Given the description of an element on the screen output the (x, y) to click on. 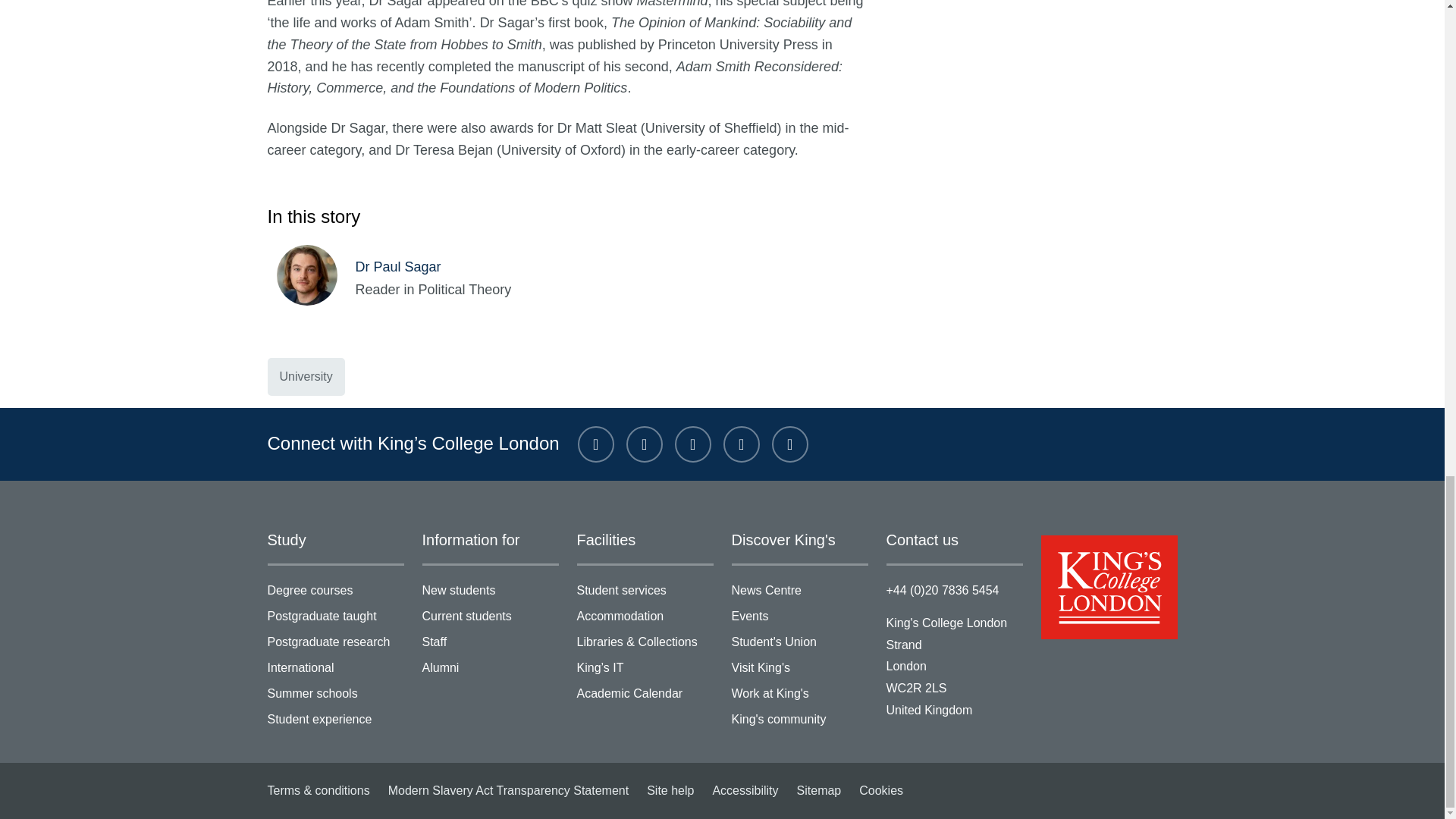
Dr Paul Sagar  (315, 276)
